Given the description of an element on the screen output the (x, y) to click on. 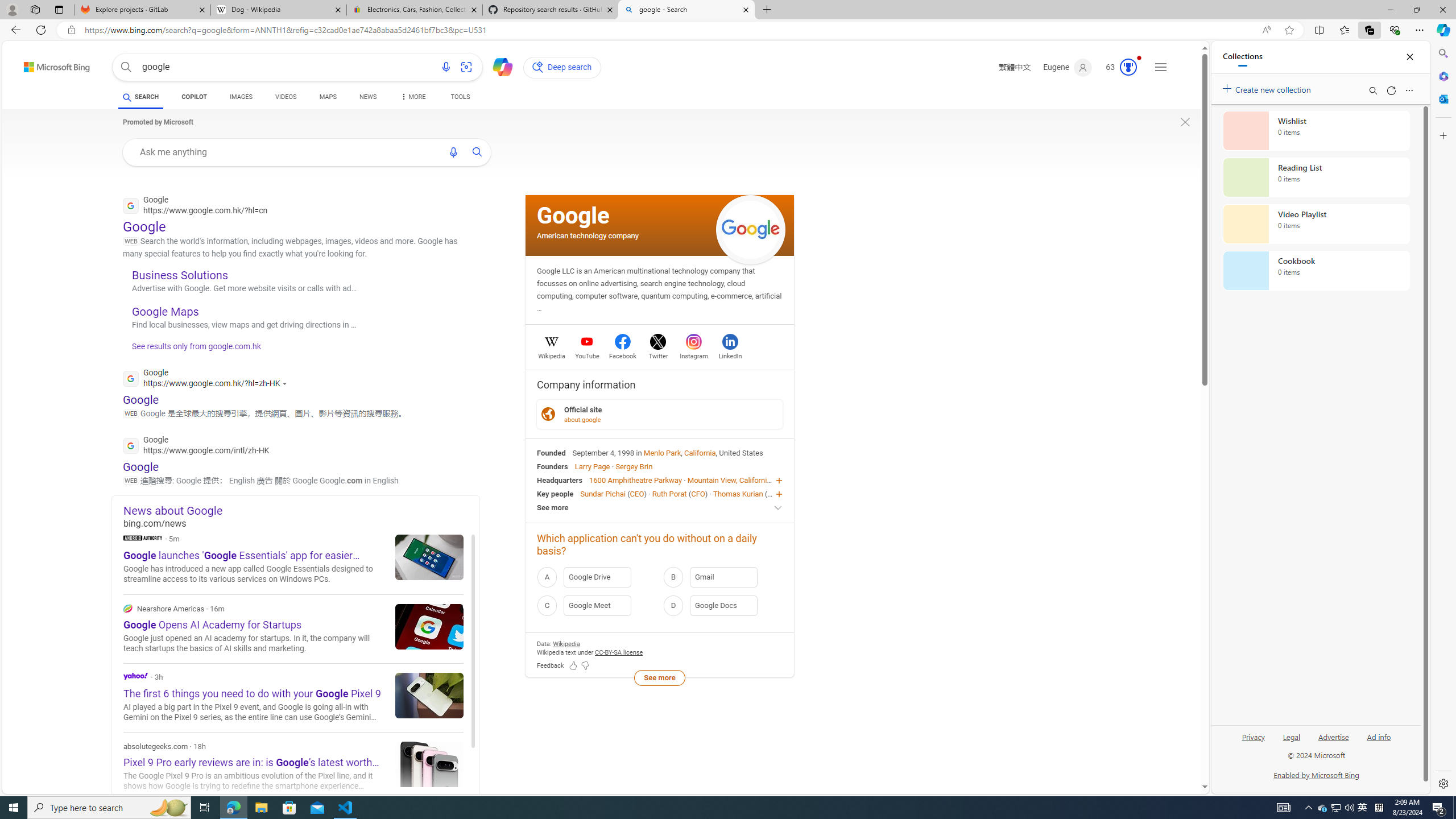
CFO (697, 492)
IMAGES (241, 96)
